Given the description of an element on the screen output the (x, y) to click on. 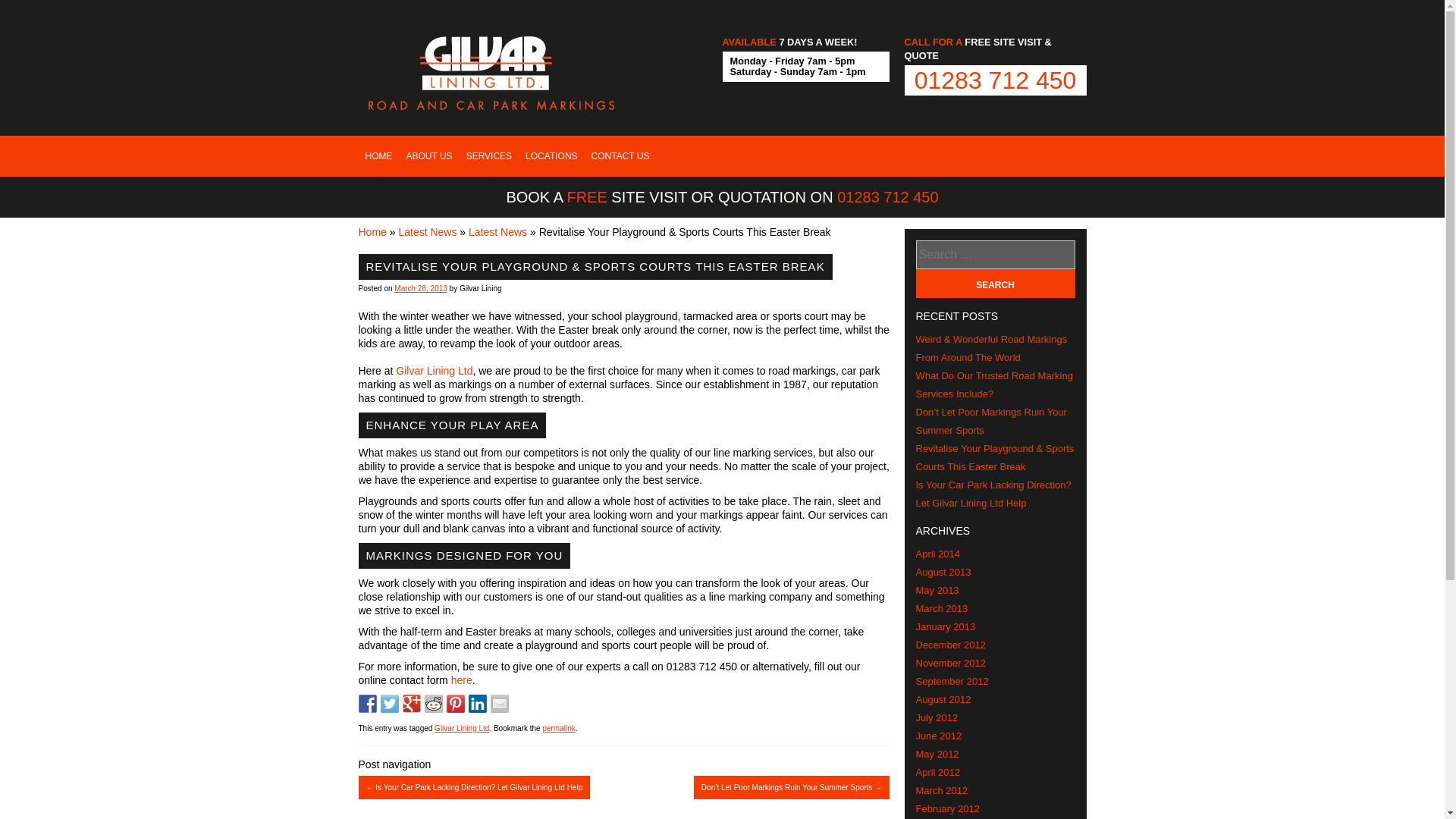
LOCATIONS (550, 155)
Call Gilvar Linings (995, 80)
Share on Facebook (366, 703)
Latest News (427, 232)
Search (995, 283)
Search (995, 283)
HOME (378, 155)
here (461, 680)
Share on Twitter (389, 703)
What Do Our Trusted Road Marking Services Include? (994, 384)
